Given the description of an element on the screen output the (x, y) to click on. 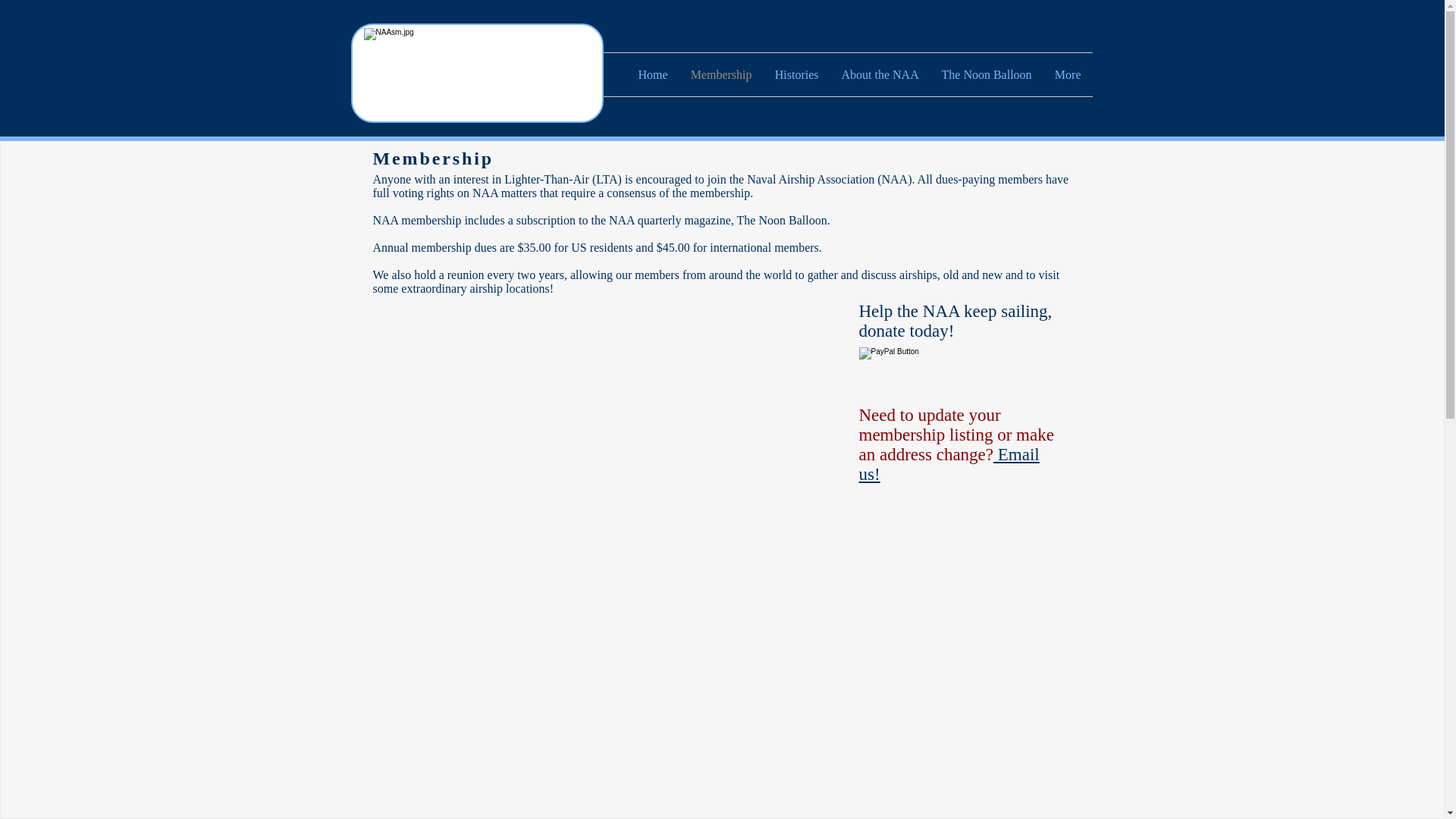
Home (652, 74)
Email us! (949, 464)
Histories (795, 74)
Membership (720, 74)
The Noon Balloon (986, 74)
About the NAA (879, 74)
